Given the description of an element on the screen output the (x, y) to click on. 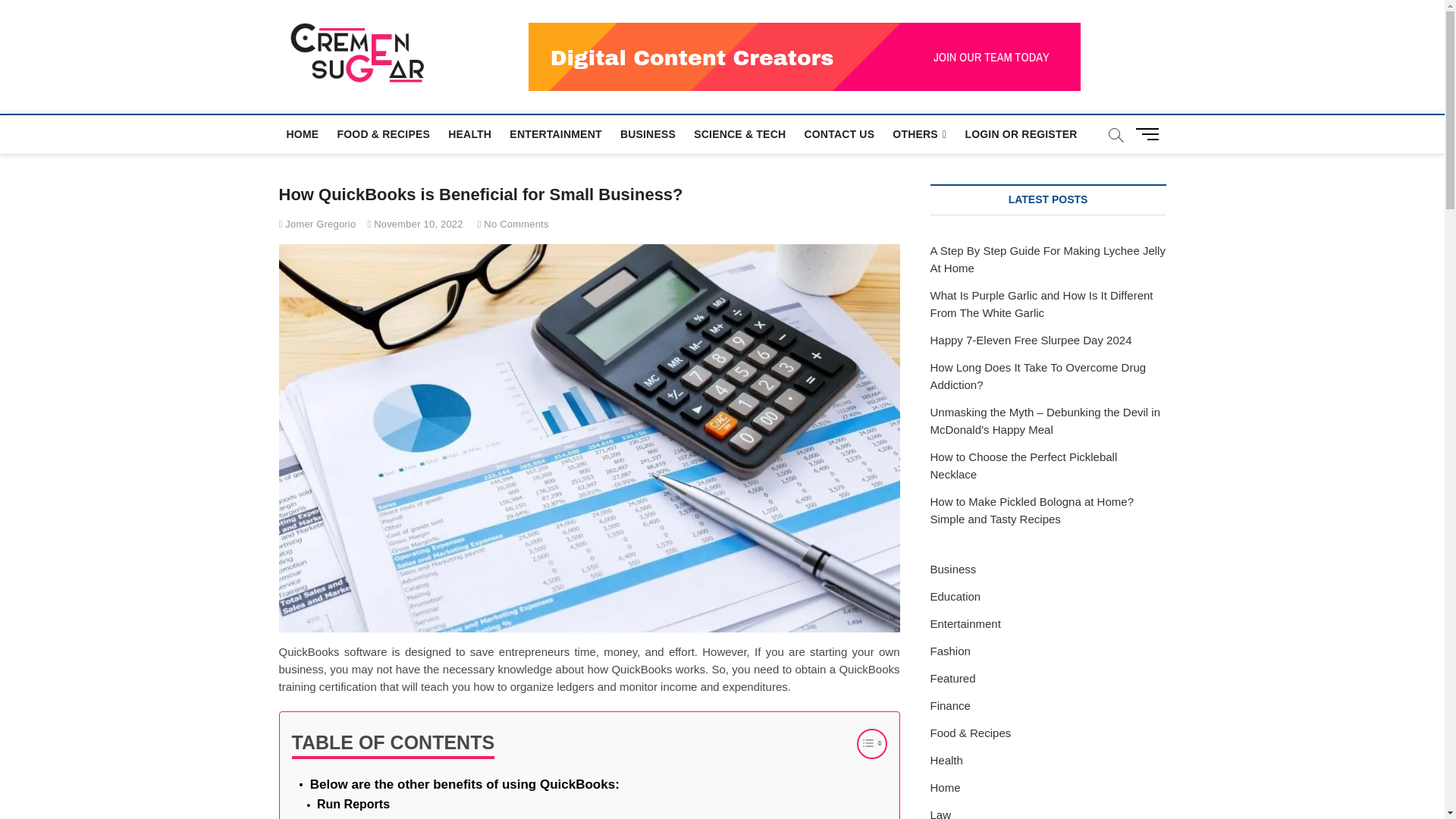
CremeNsugar (520, 50)
How QuickBooks is Beneficial for Small Business? (317, 224)
HOME (302, 134)
OTHERS (919, 134)
LOGIN OR REGISTER (1020, 134)
HEALTH (470, 134)
CONTACT US (839, 134)
ENTERTAINMENT (555, 134)
CremeNsugar (520, 50)
Invoices (341, 818)
BUSINESS (647, 134)
Run Reports (353, 804)
November 10, 2022 (414, 224)
Menu Button (1150, 133)
